Given the description of an element on the screen output the (x, y) to click on. 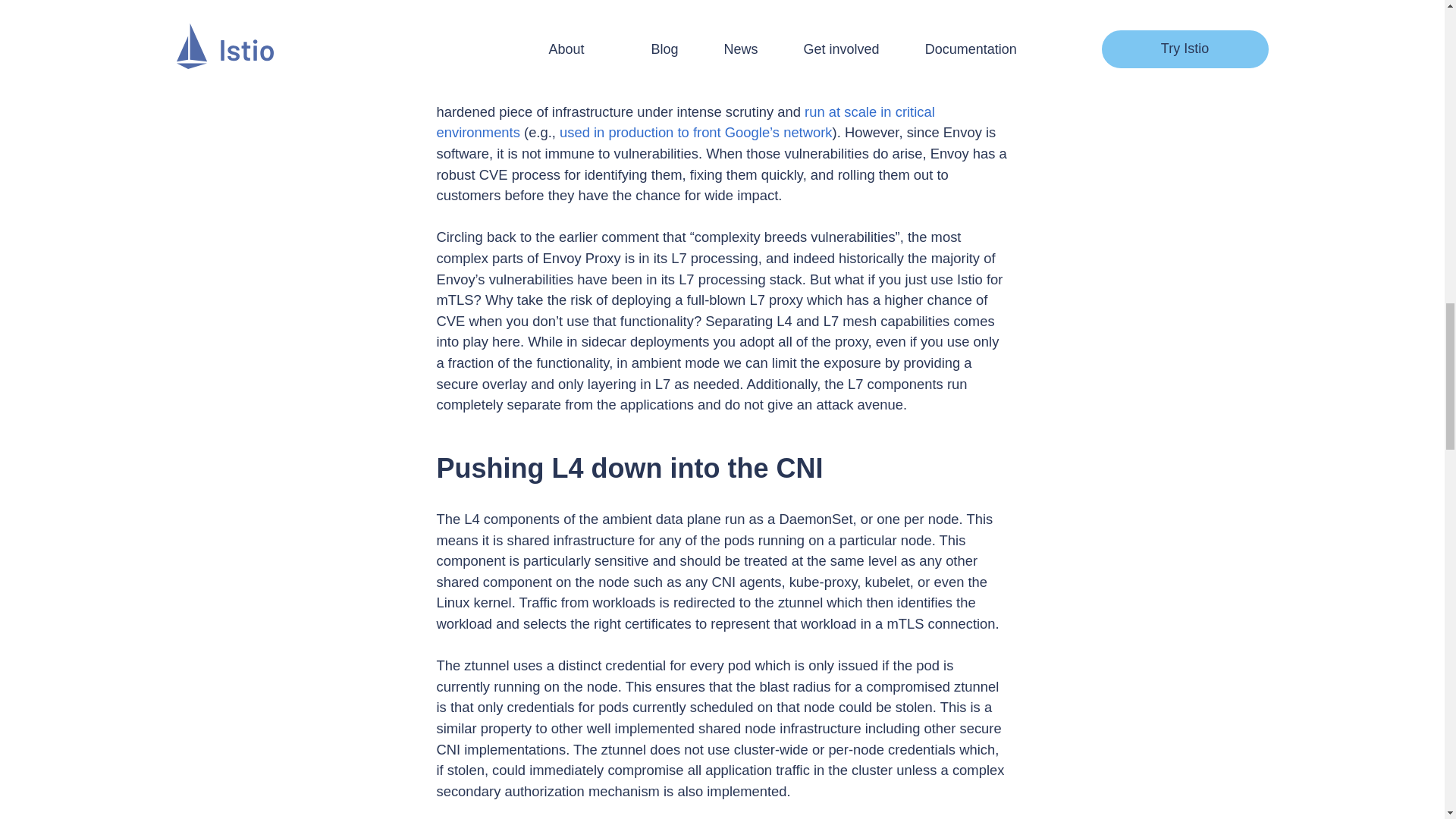
run at scale in critical environments (685, 122)
